Given the description of an element on the screen output the (x, y) to click on. 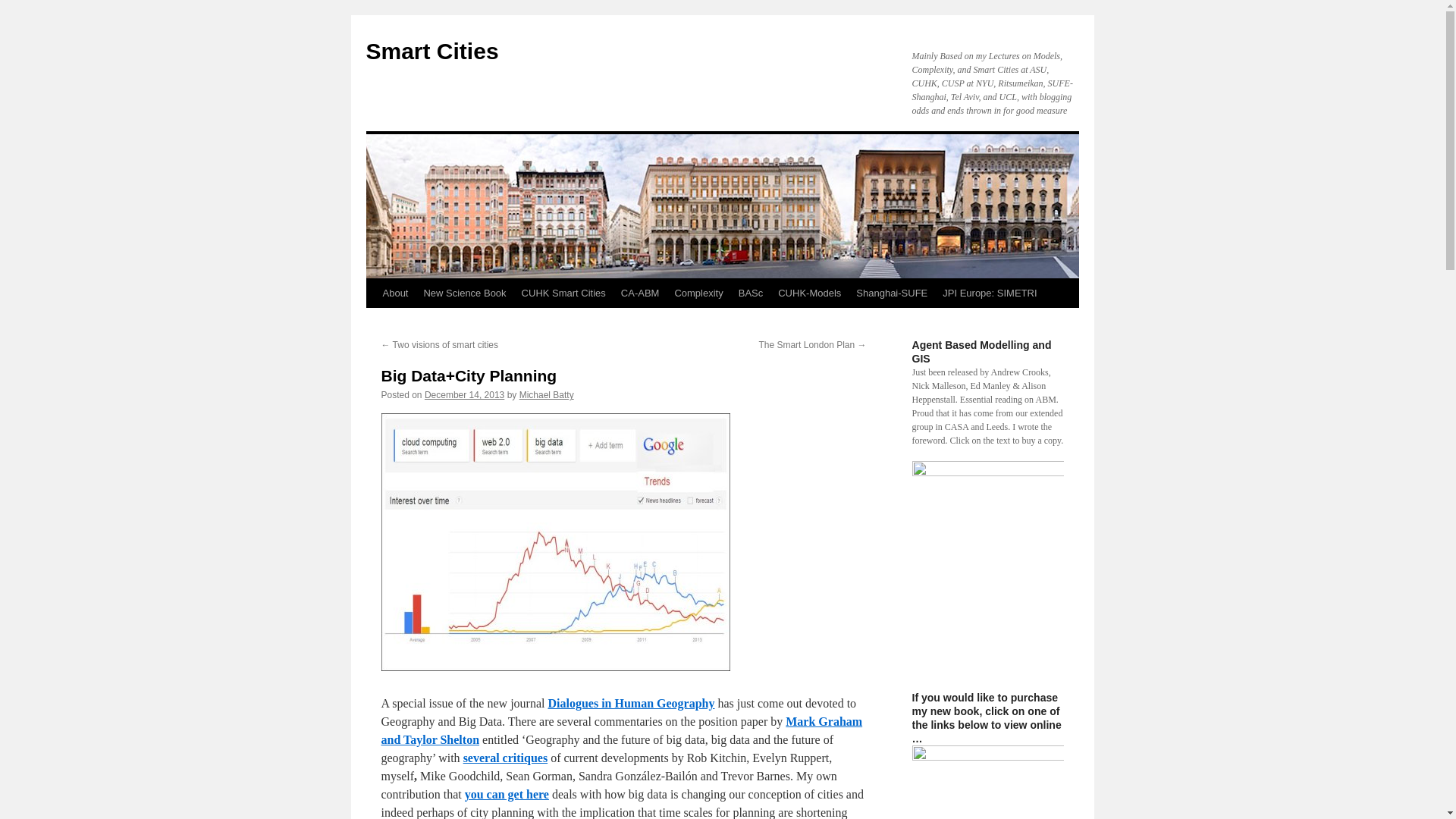
CUHK Smart Cities (562, 293)
View all posts by Michael Batty (546, 394)
Smart Cities (431, 50)
BASc (750, 293)
CUHK-Models (809, 293)
Complexity (698, 293)
CA-ABM (639, 293)
New Science Book (463, 293)
9:05 am (464, 394)
About (394, 293)
